Given the description of an element on the screen output the (x, y) to click on. 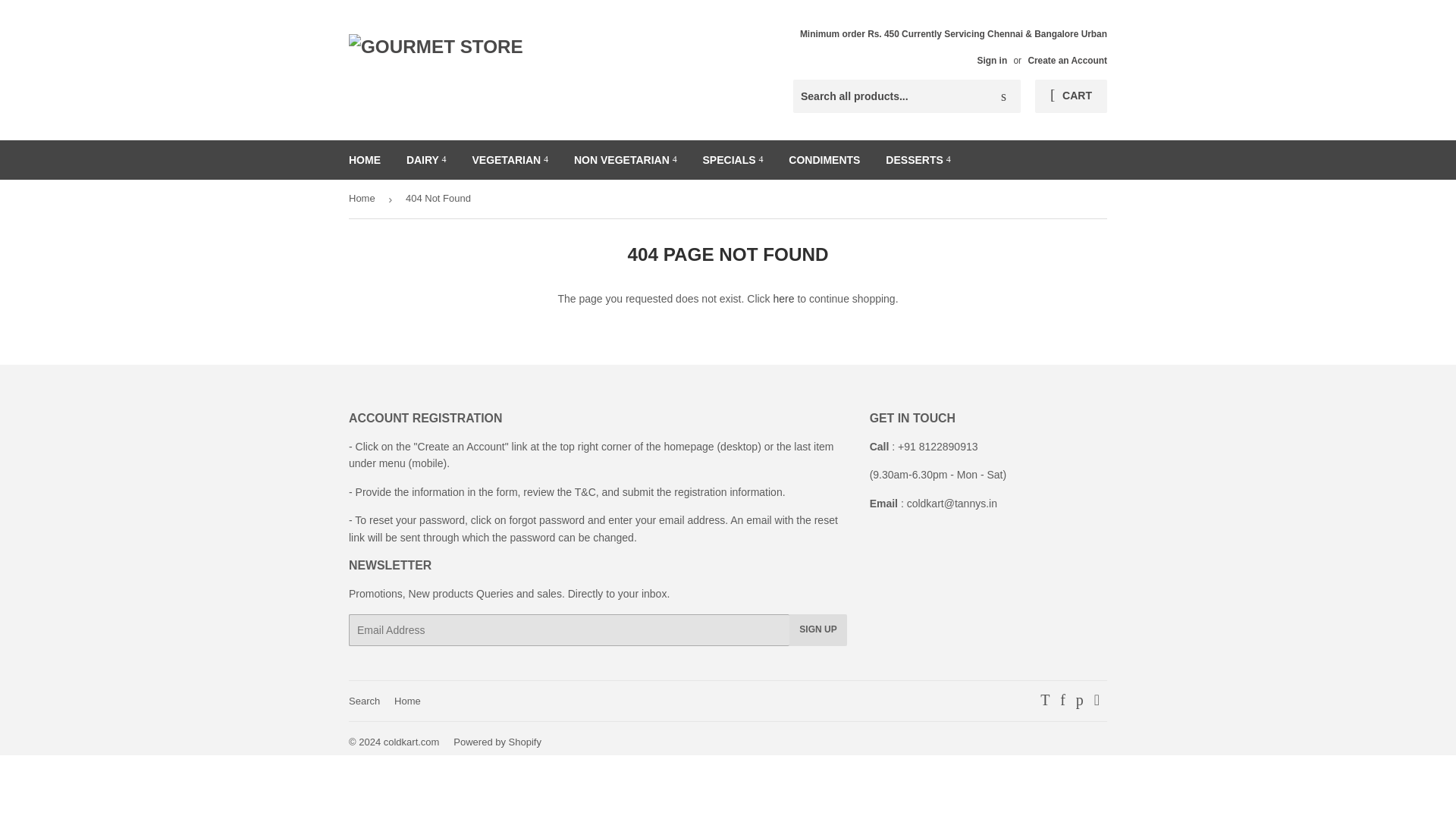
CART (1070, 96)
Create an Account (1066, 59)
Search (1003, 97)
Sign in (991, 59)
